Given the description of an element on the screen output the (x, y) to click on. 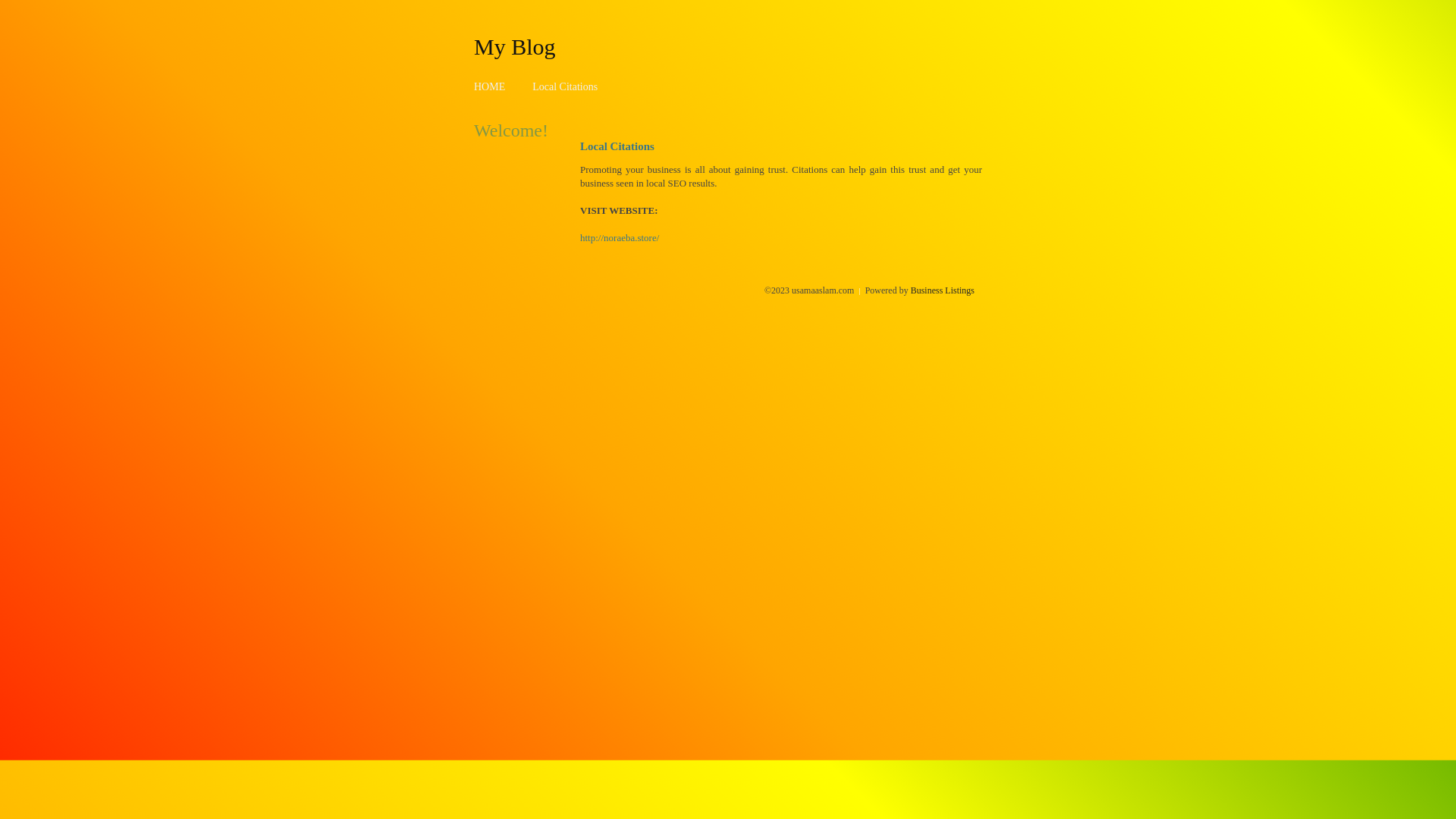
HOME Element type: text (489, 86)
My Blog Element type: text (514, 46)
http://noraeba.store/ Element type: text (619, 237)
Local Citations Element type: text (564, 86)
Business Listings Element type: text (942, 290)
